Given the description of an element on the screen output the (x, y) to click on. 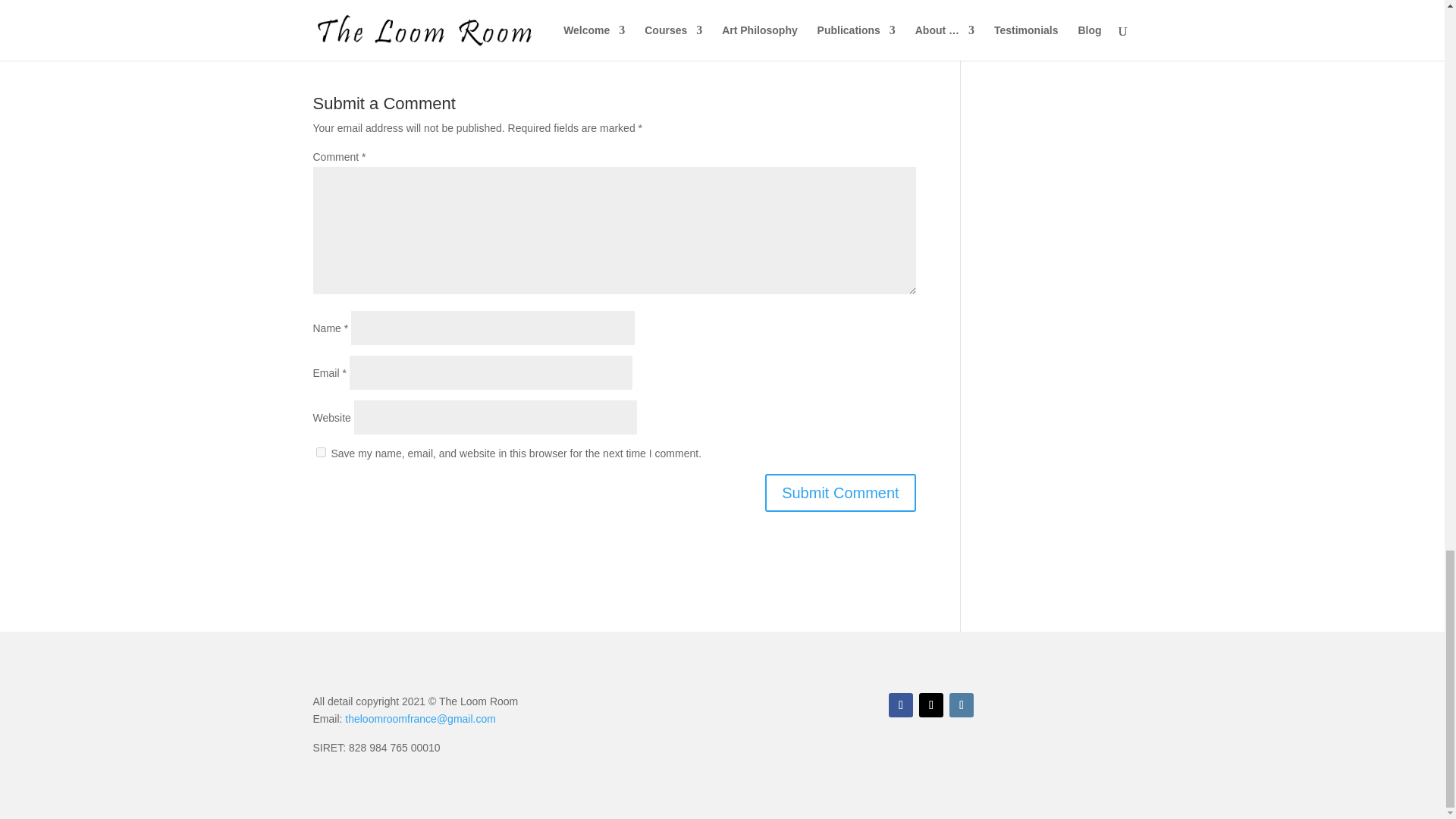
yes (319, 452)
Follow on Twitter (930, 704)
Follow on Facebook (900, 704)
Submit Comment (840, 492)
Follow on Instagram (961, 704)
